Given the description of an element on the screen output the (x, y) to click on. 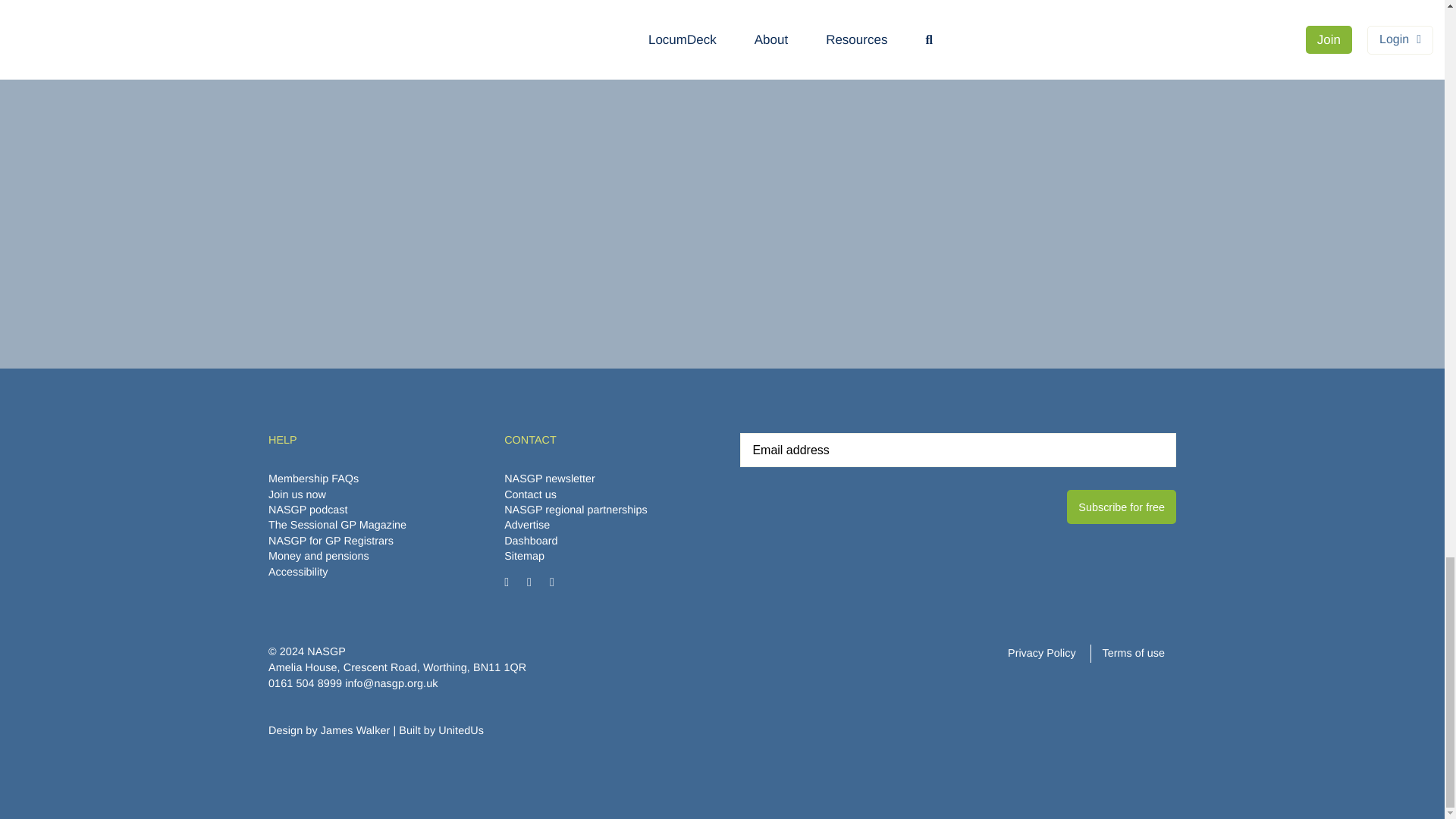
Subscribe for free (1121, 506)
